Given the description of an element on the screen output the (x, y) to click on. 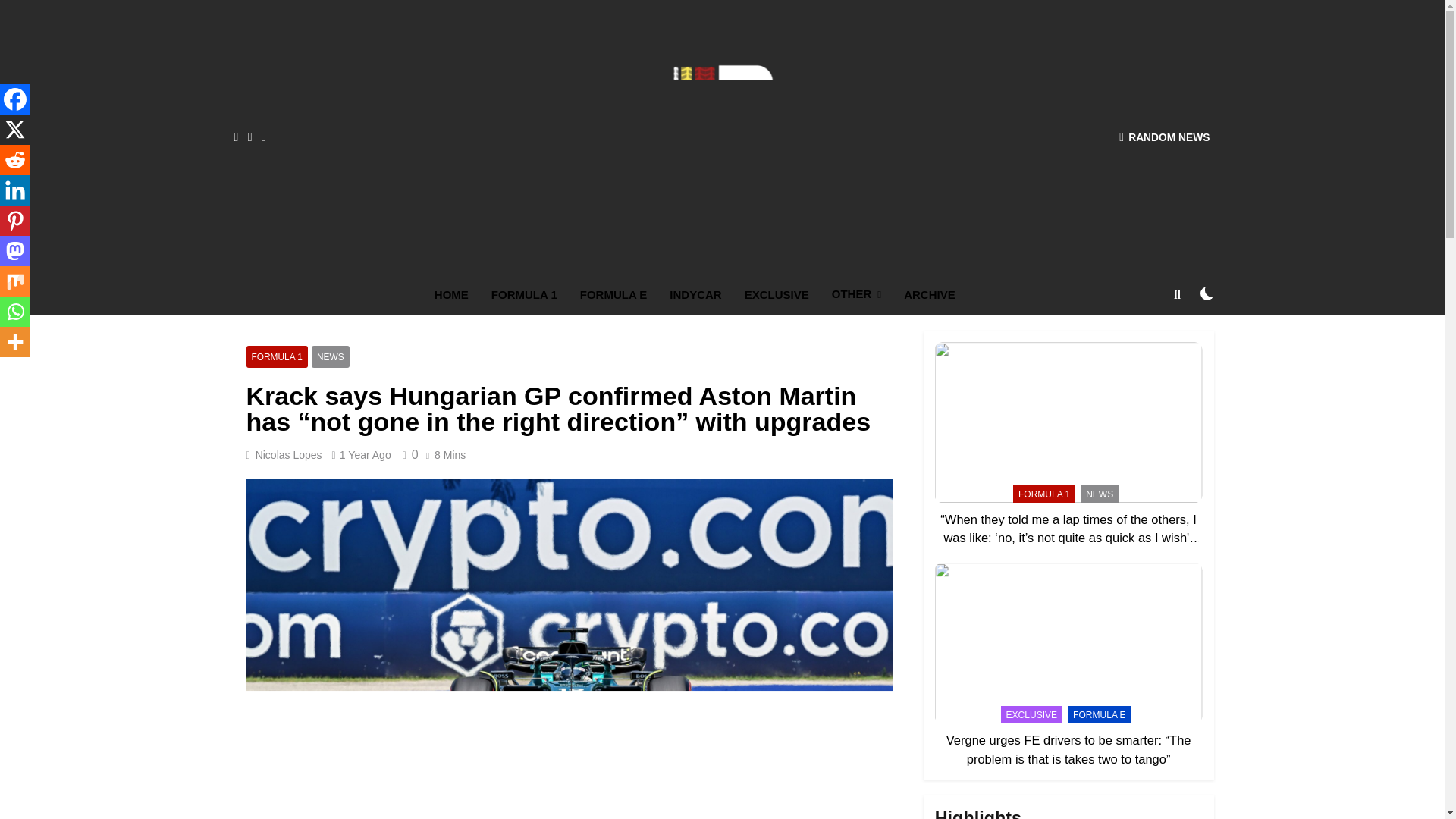
0 (408, 454)
X (15, 129)
ARCHIVE (929, 294)
EXCLUSIVE (777, 294)
FORMULA E (614, 294)
on (1206, 293)
INDYCAR (695, 294)
NEWS (330, 356)
Reddit (15, 159)
FORMULA 1 (524, 294)
FORMULA 1 (276, 356)
OTHER (856, 294)
1 Year Ago (365, 454)
RANDOM NEWS (1164, 136)
Facebook (15, 99)
